Given the description of an element on the screen output the (x, y) to click on. 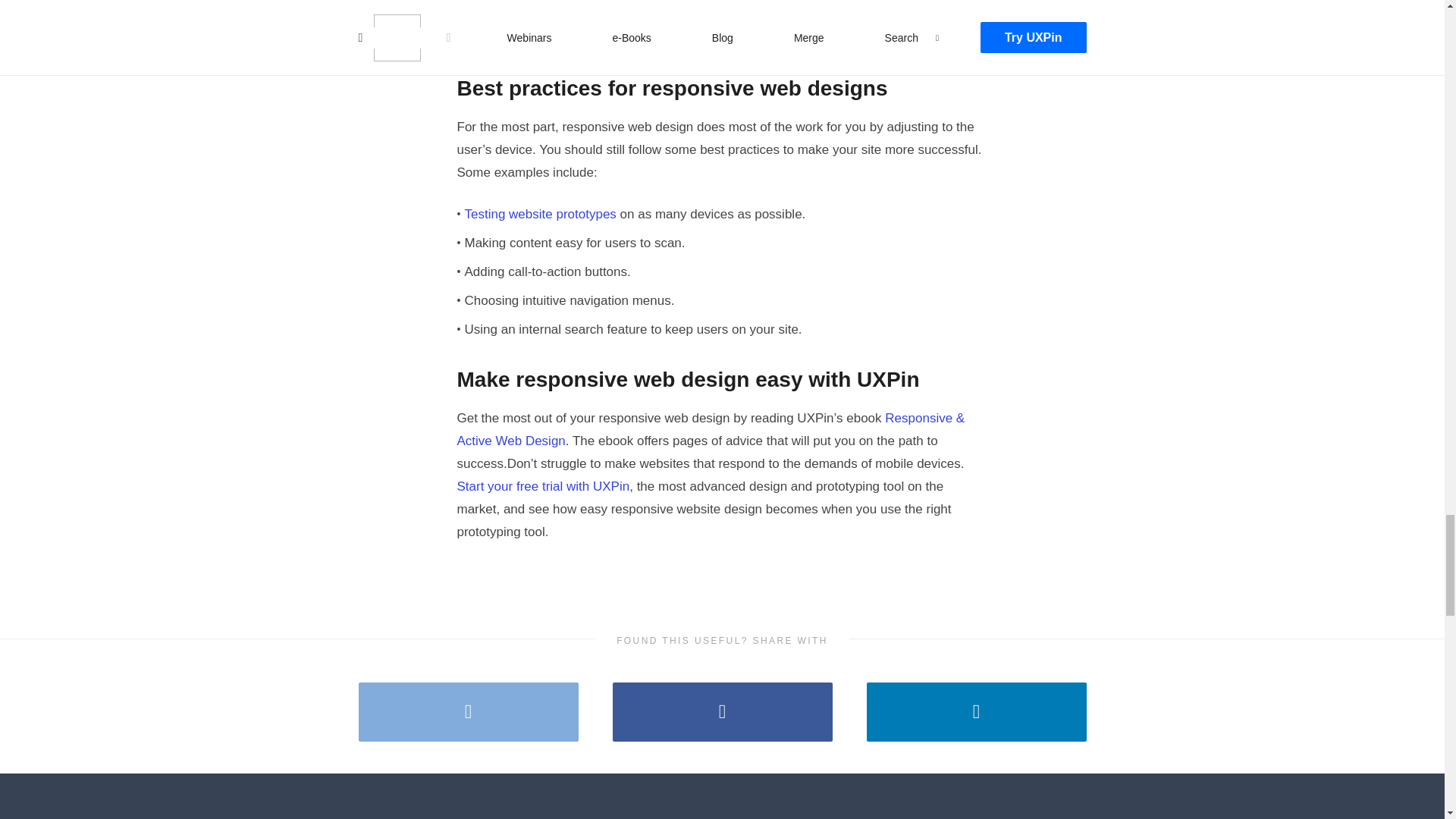
Testing website prototypes (539, 214)
Share on Linkedin (976, 712)
Start your free trial with UXPin (542, 486)
Share on Facebook (722, 712)
Share on Twitter (468, 712)
